Given the description of an element on the screen output the (x, y) to click on. 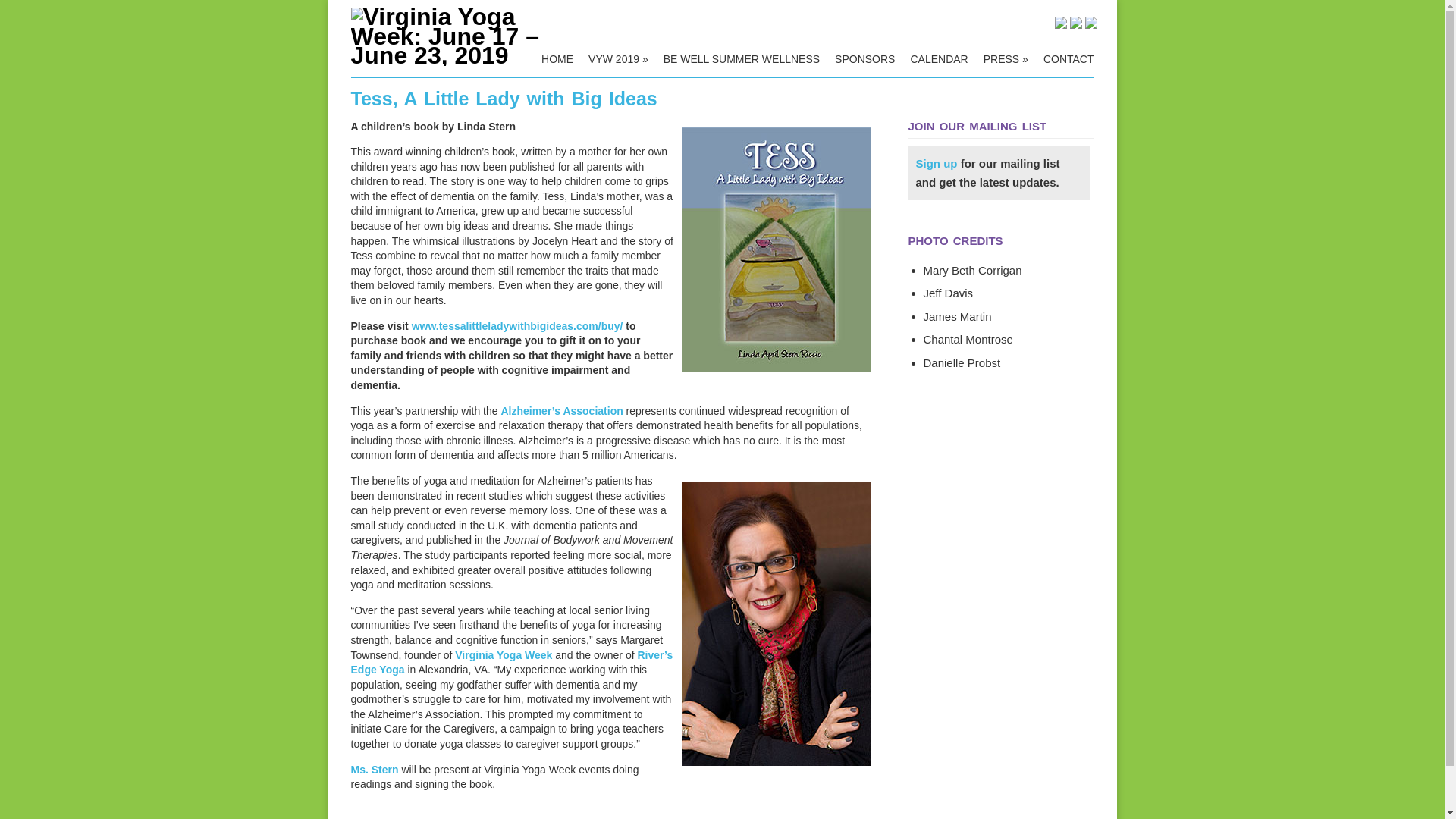
BE WELL SUMMER WELLNESS (741, 59)
Sign up (936, 162)
Virginia Yoga Week (502, 654)
CALENDAR (938, 59)
CONTACT (1068, 59)
SPONSORS (864, 59)
HOME (557, 59)
Ms. Stern (373, 769)
